Given the description of an element on the screen output the (x, y) to click on. 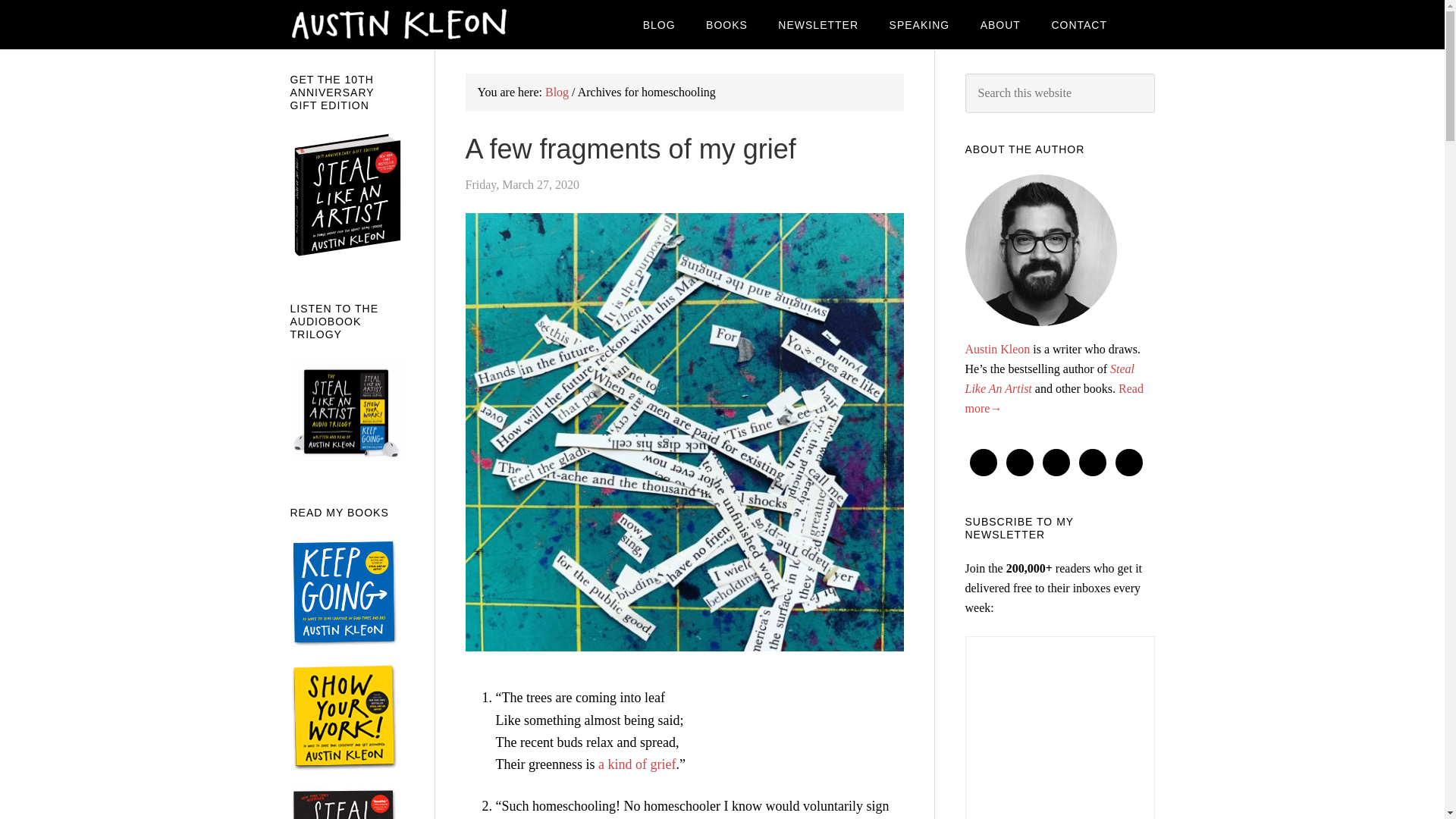
Steal Like An Artist (1048, 378)
ABOUT (999, 24)
BOOKS (727, 24)
Read my books (727, 24)
A few fragments of my grief (630, 148)
SPEAKING (919, 24)
BLOG (658, 24)
Austin Kleon (996, 349)
AUSTIN KLEON (410, 24)
CONTACT (1078, 24)
NEWSLETTER (818, 24)
Blog (556, 91)
